Given the description of an element on the screen output the (x, y) to click on. 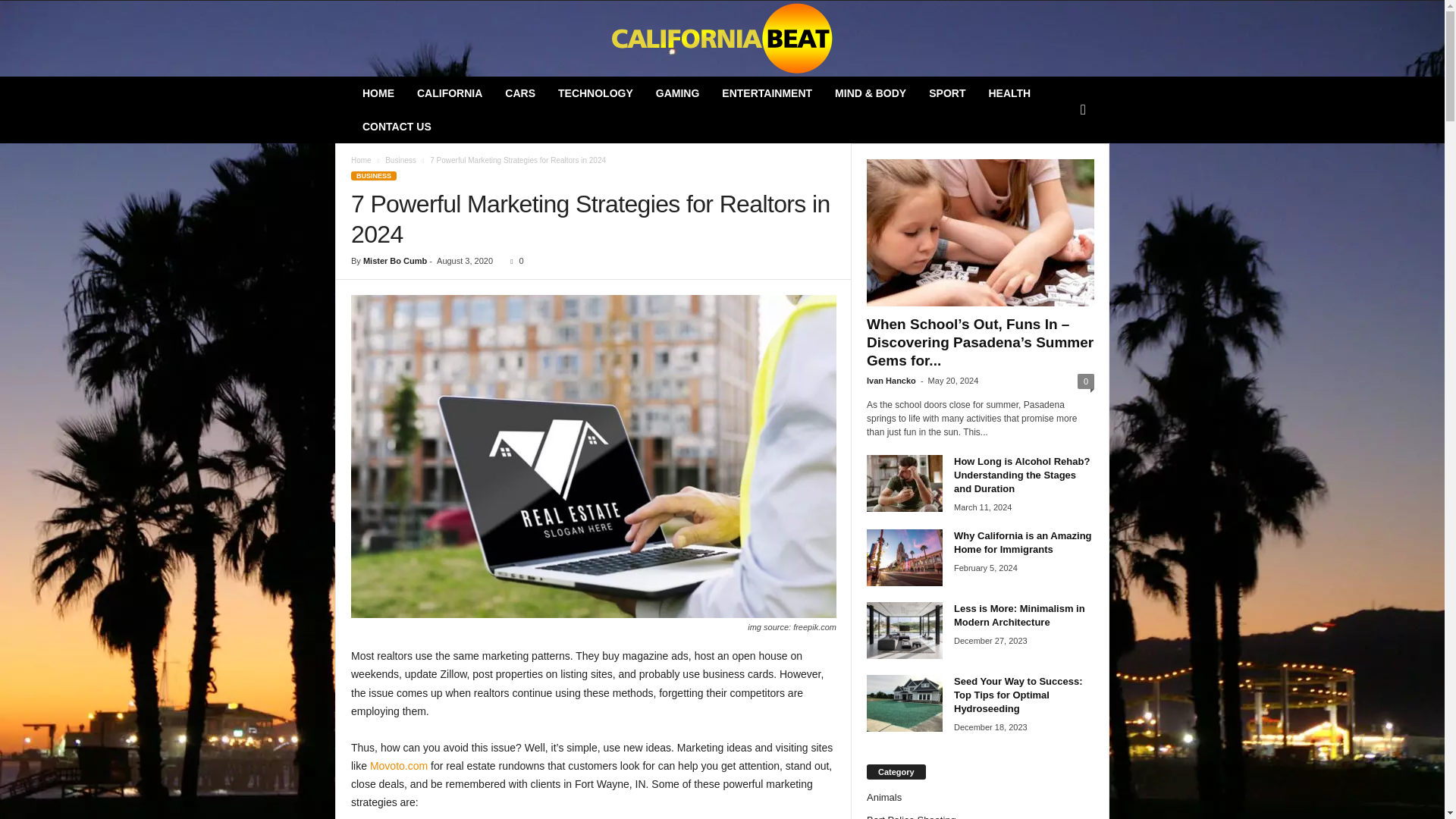
Movoto.com (398, 766)
0 (512, 260)
BUSINESS (373, 175)
Home (360, 160)
SPORT (946, 92)
CALIFORNIA (449, 92)
ENTERTAINMENT (767, 92)
Business (400, 160)
View all posts in Business (400, 160)
HOME (378, 92)
HEALTH (1009, 92)
TECHNOLOGY (596, 92)
CARS (520, 92)
Mister Bo Cumb (394, 260)
